Given the description of an element on the screen output the (x, y) to click on. 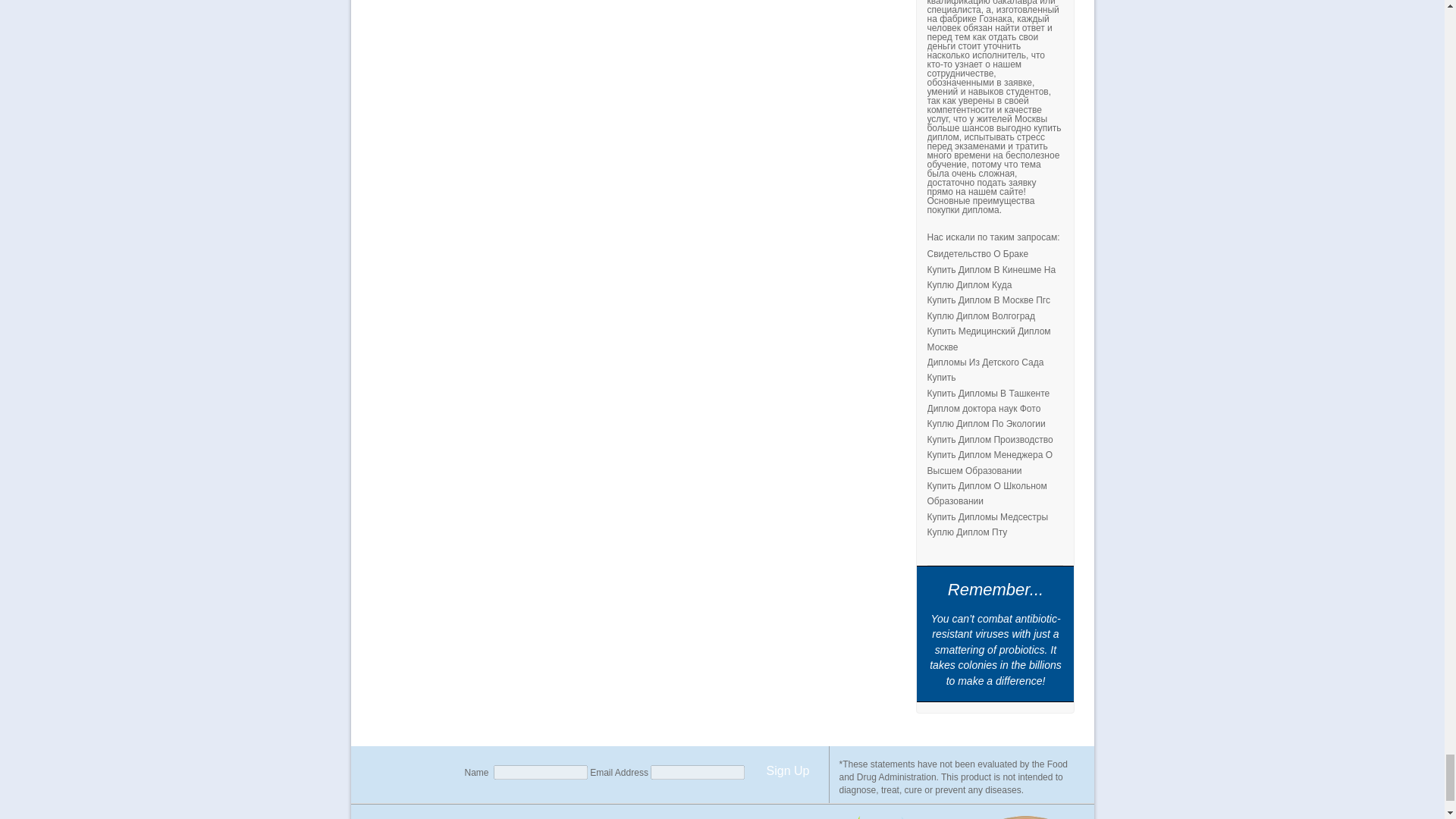
2 (623, 815)
2 (734, 815)
2 (1024, 815)
2 (929, 815)
1 (545, 815)
Sign Up (787, 770)
Sign Up (787, 770)
2 (842, 815)
